Given the description of an element on the screen output the (x, y) to click on. 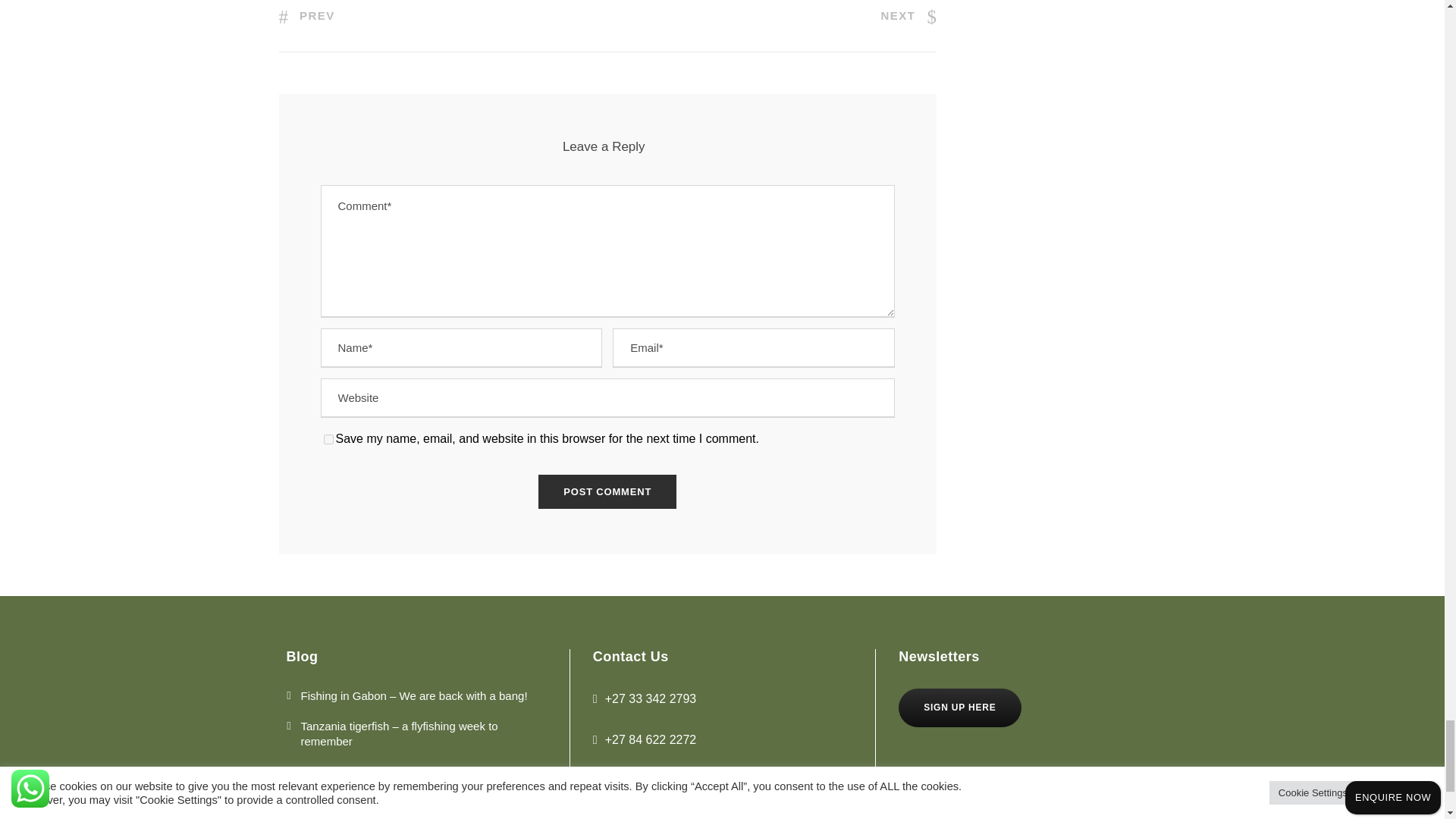
NEXT (908, 15)
Post Comment (607, 491)
Post Comment (607, 491)
yes (328, 439)
PREV (306, 15)
